Given the description of an element on the screen output the (x, y) to click on. 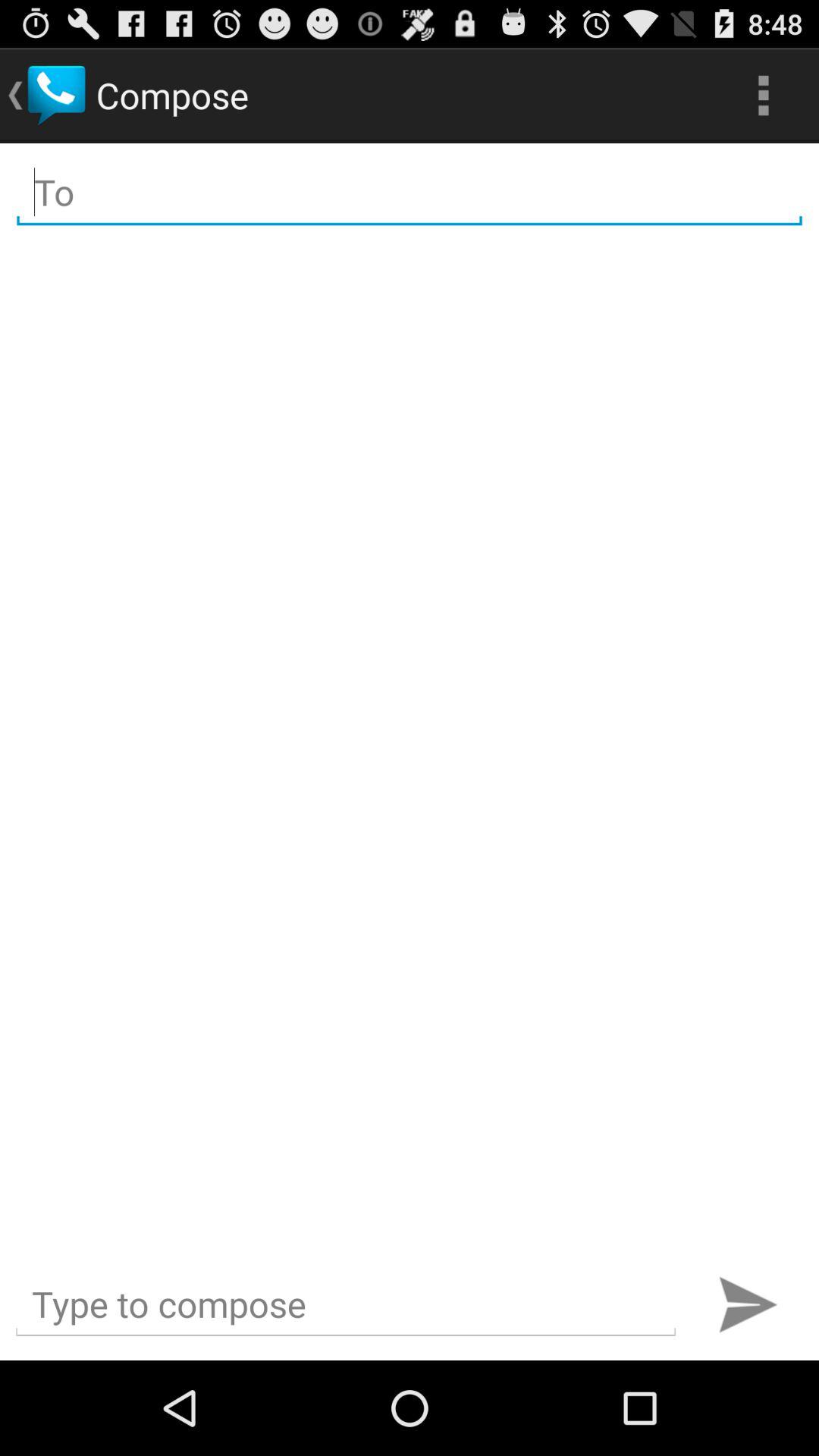
enter a message (345, 1304)
